Given the description of an element on the screen output the (x, y) to click on. 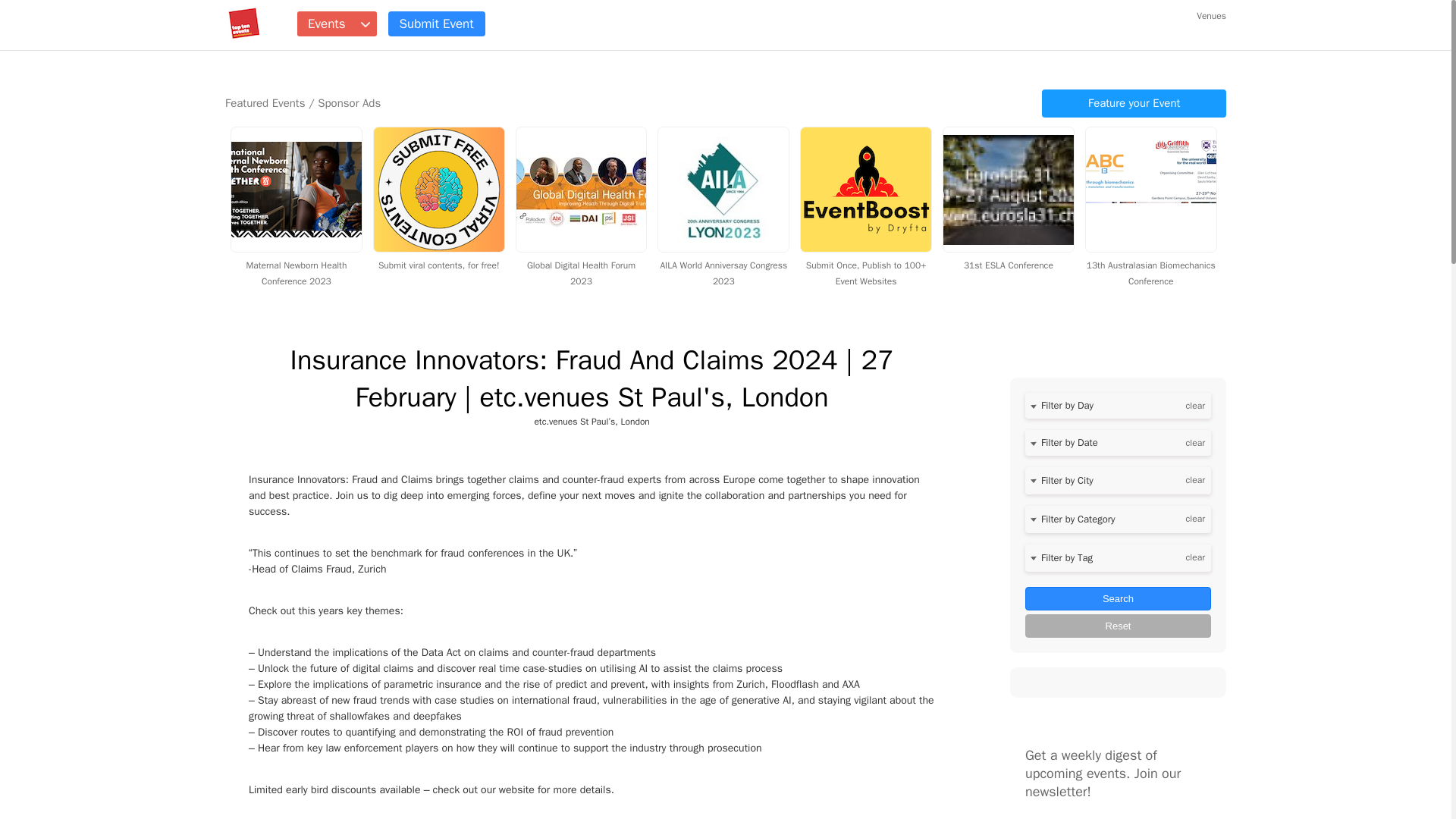
Top Ten Events (244, 23)
Submit viral contents, for free! (438, 256)
13th Australasian Biomechanics Conference (1150, 264)
Global Digital Health Forum 2023 (581, 264)
31st ESLA Conference (1008, 256)
AILA World Anniversay Congress 2023 (723, 264)
Submit Event (436, 23)
Maternal Newborn Health Conference 2023 (296, 264)
Venues (1210, 15)
